Given the description of an element on the screen output the (x, y) to click on. 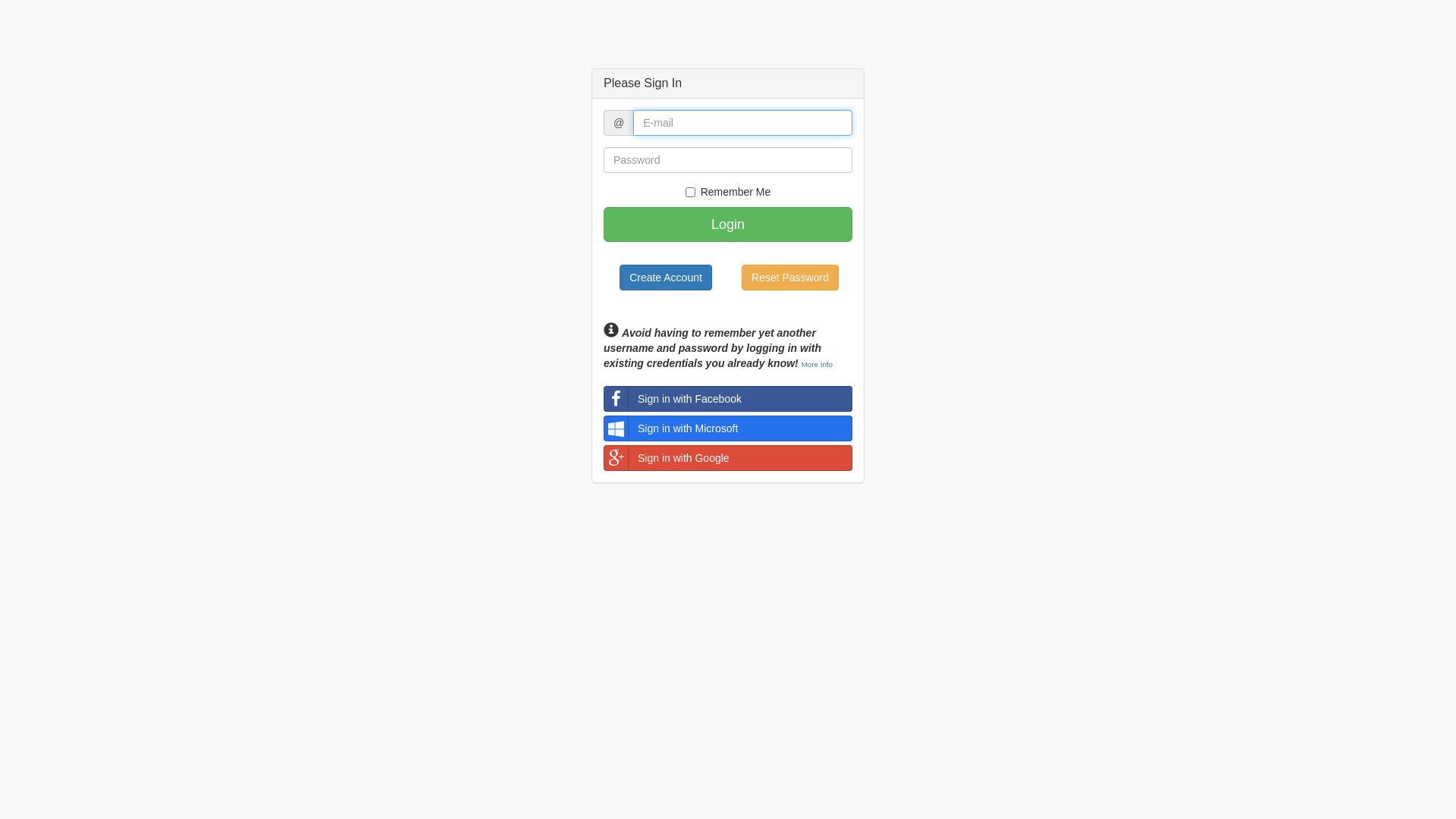
Sign in with Google Element type: text (727, 457)
Sign in with Facebook Element type: text (727, 398)
Create Account Element type: text (665, 277)
More Info Element type: text (816, 364)
Login Element type: text (727, 224)
Sign in with Microsoft Element type: text (727, 428)
Reset Password Element type: text (789, 277)
